Given the description of an element on the screen output the (x, y) to click on. 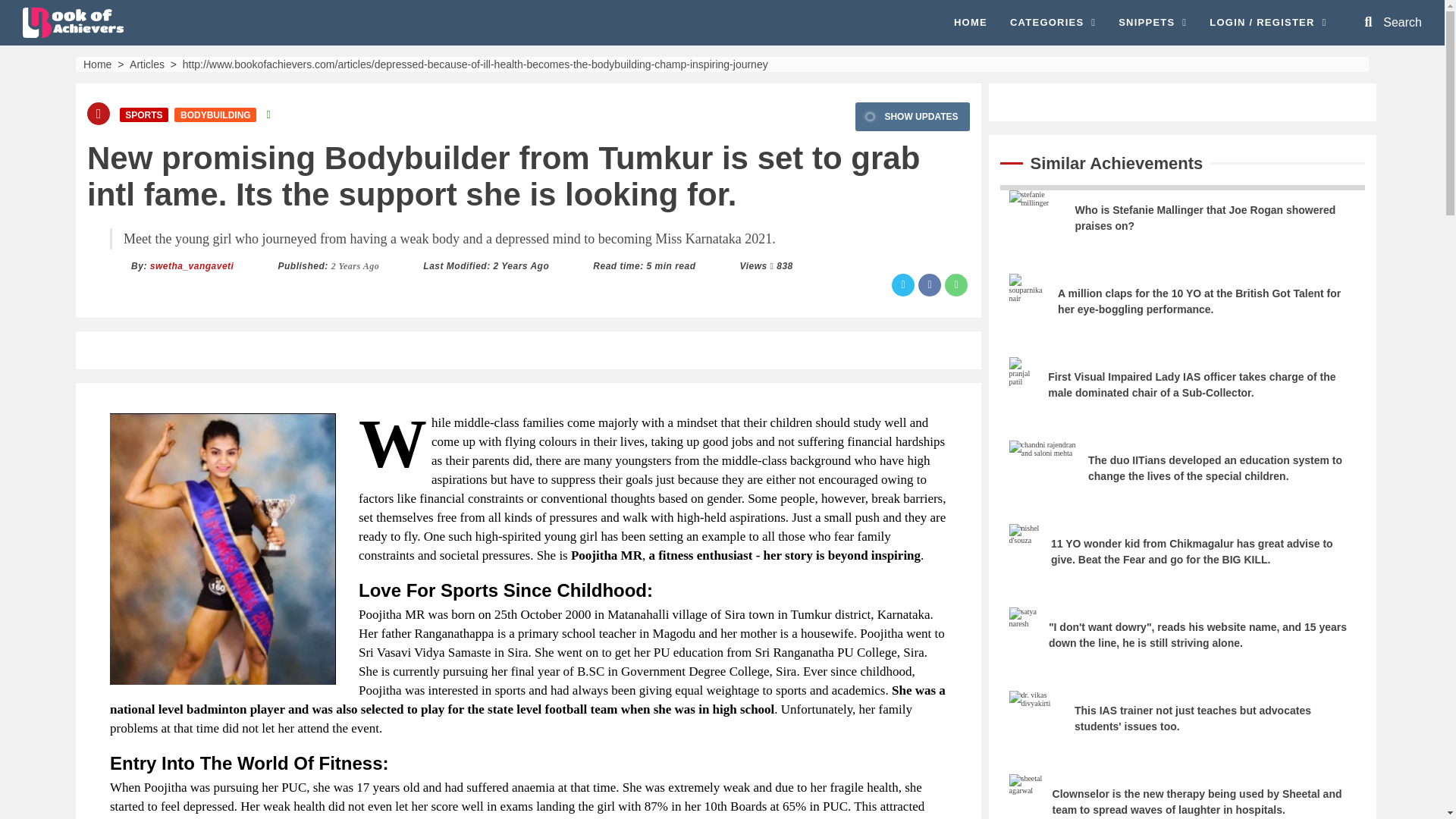
Home (97, 63)
Verified Profile (267, 113)
Share on Twitter (902, 284)
HOME (970, 22)
Share on Whatsapp (956, 284)
SNIPPETS   (1152, 22)
Article Views: 838 (784, 266)
Share on Facebook (929, 284)
CATEGORIES   (1053, 22)
Articles (146, 63)
poojitha mr (223, 547)
BODYBUILDING (215, 114)
Search (1393, 22)
SPORTS (143, 114)
